Given the description of an element on the screen output the (x, y) to click on. 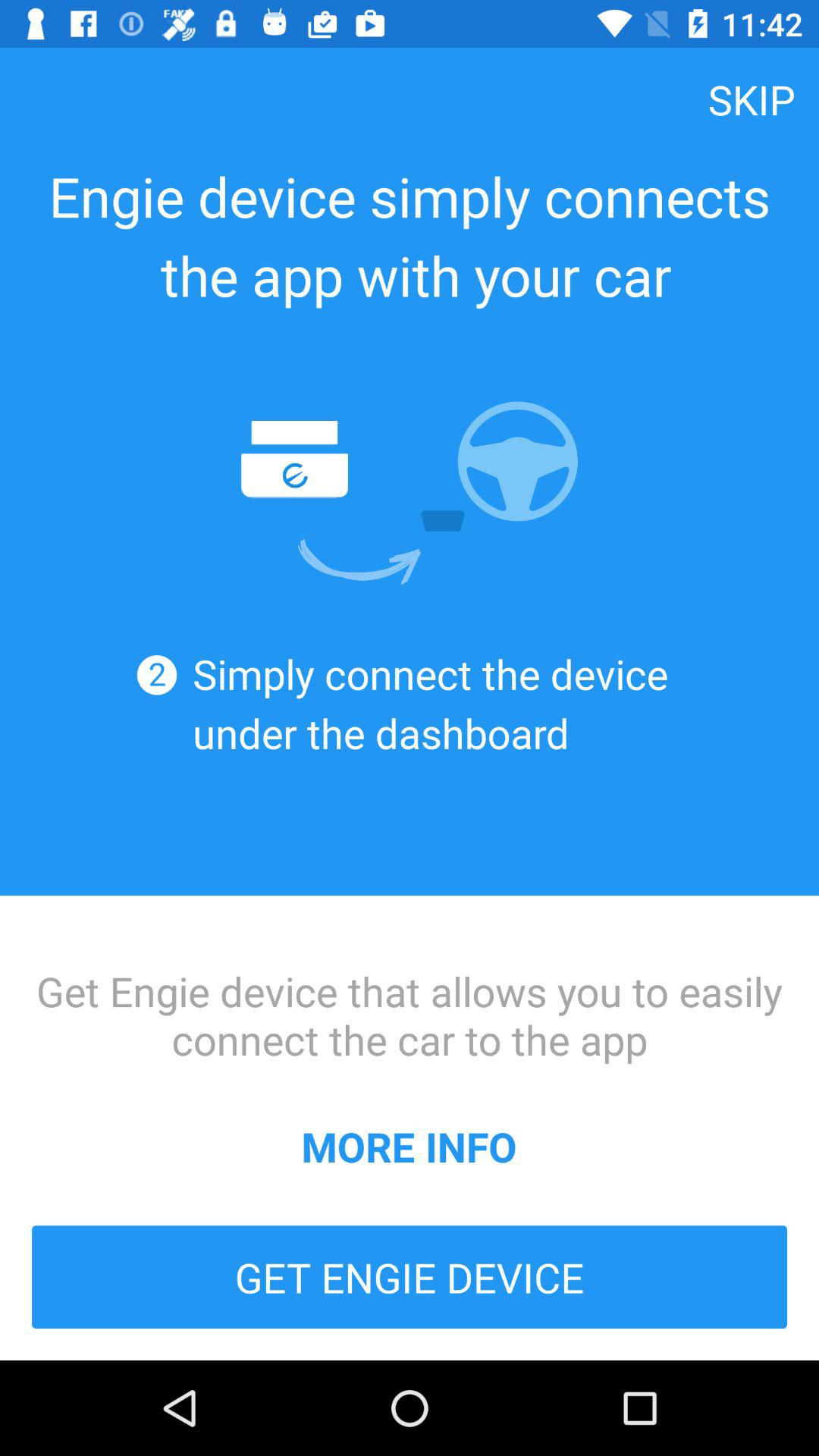
tap skip item (751, 98)
